Given the description of an element on the screen output the (x, y) to click on. 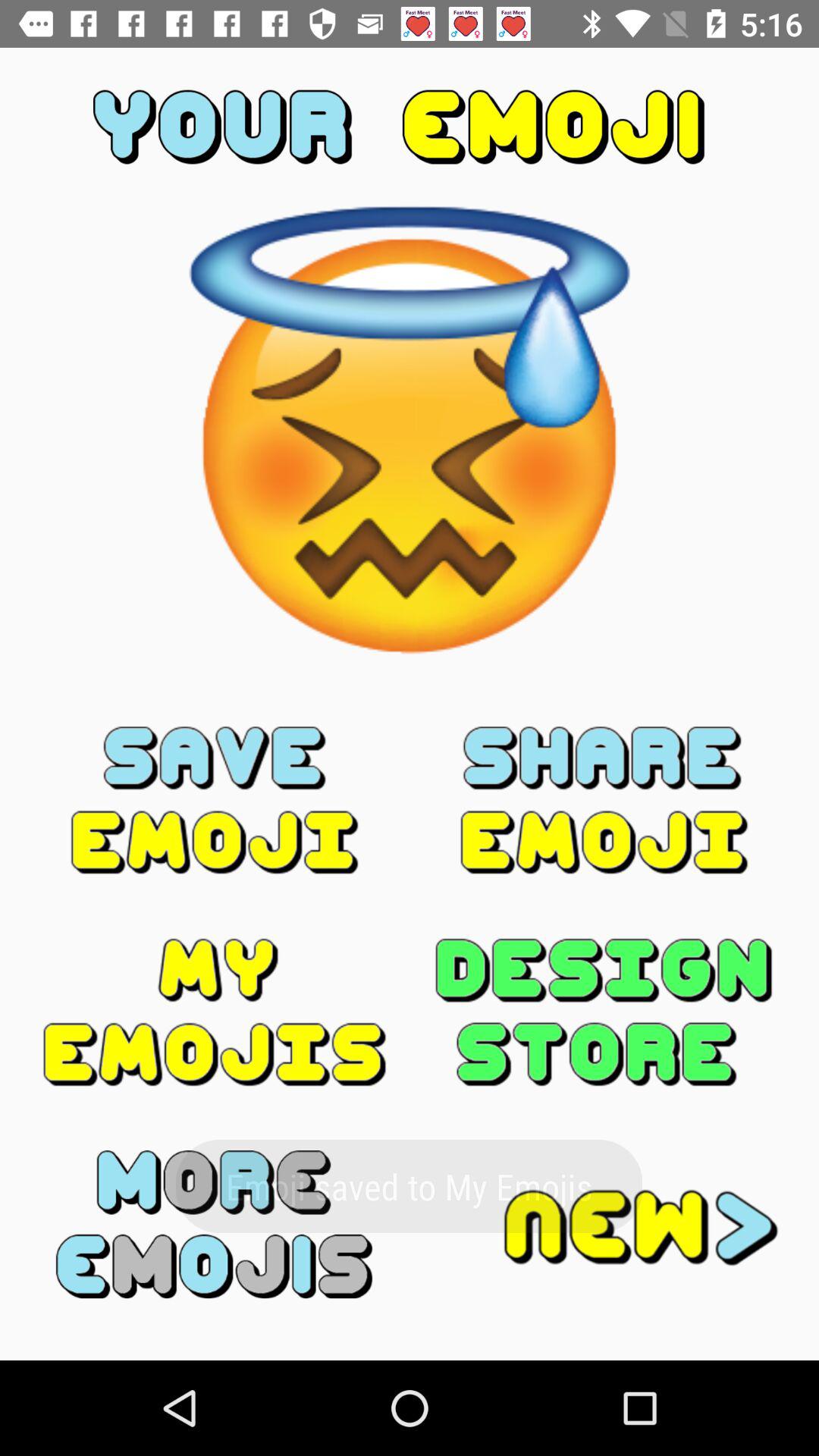
view more emojis (214, 1224)
